Given the description of an element on the screen output the (x, y) to click on. 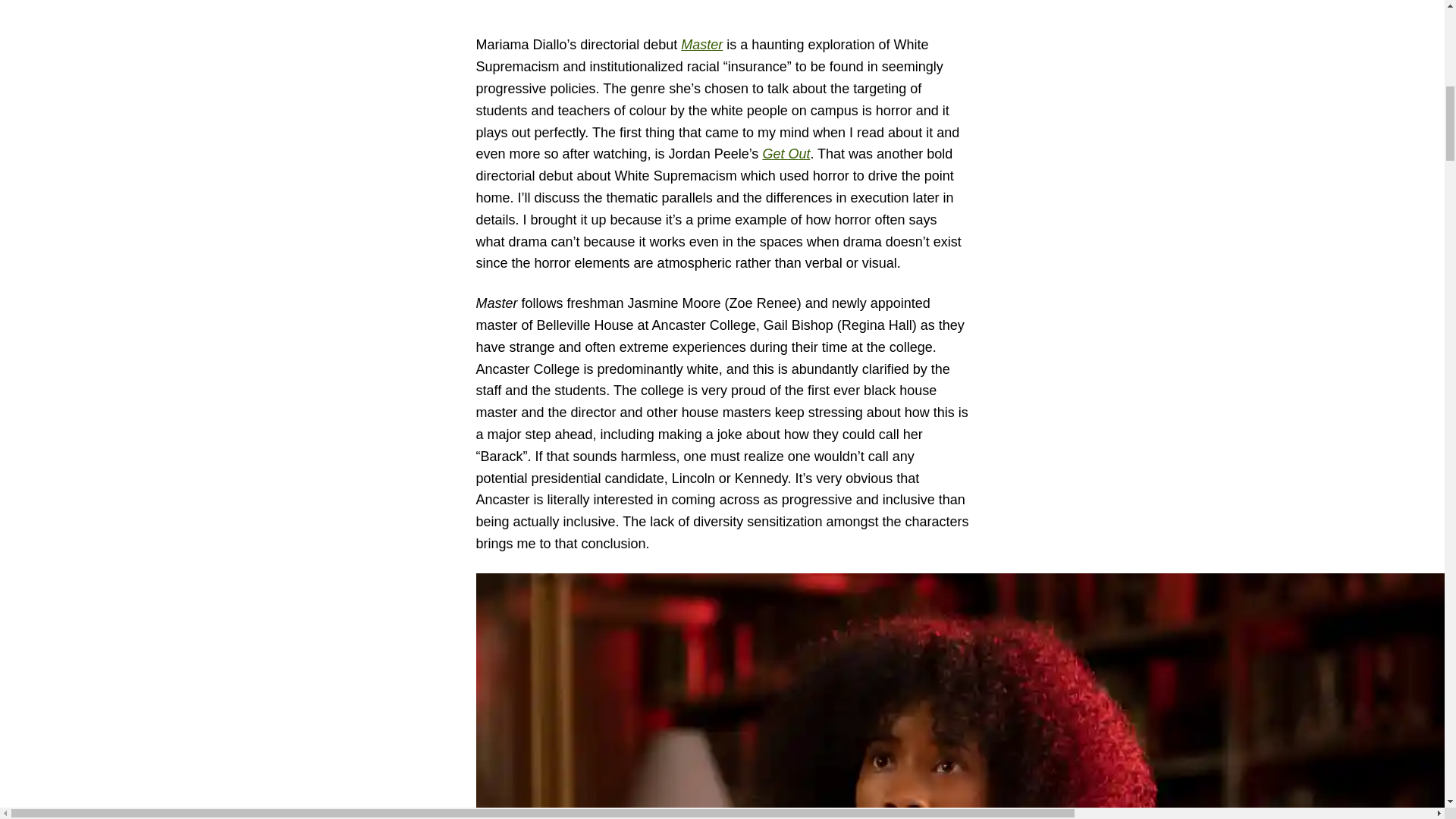
Get Out (785, 153)
Master (701, 44)
